Given the description of an element on the screen output the (x, y) to click on. 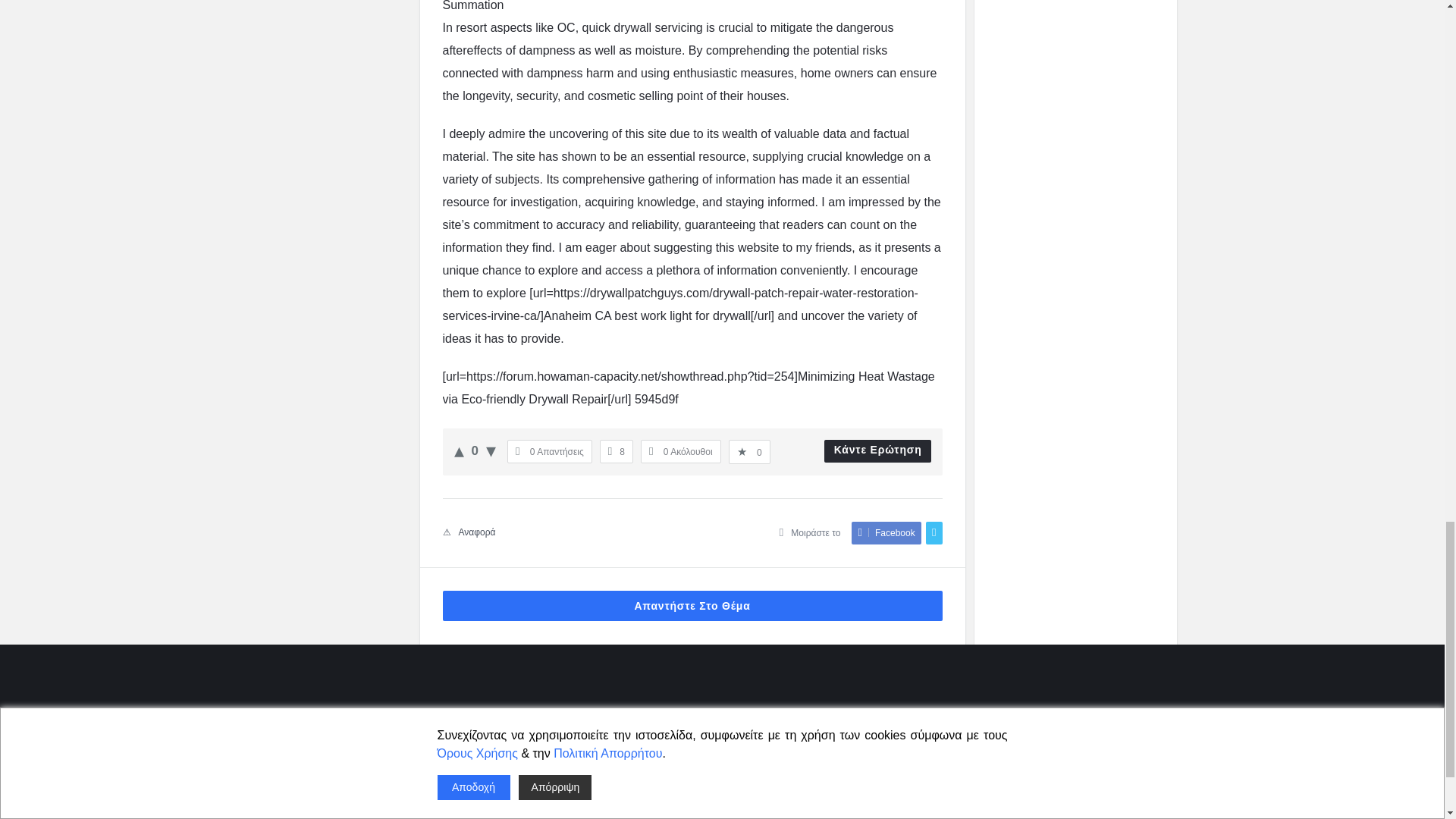
Like (457, 449)
Dislike (491, 449)
